Given the description of an element on the screen output the (x, y) to click on. 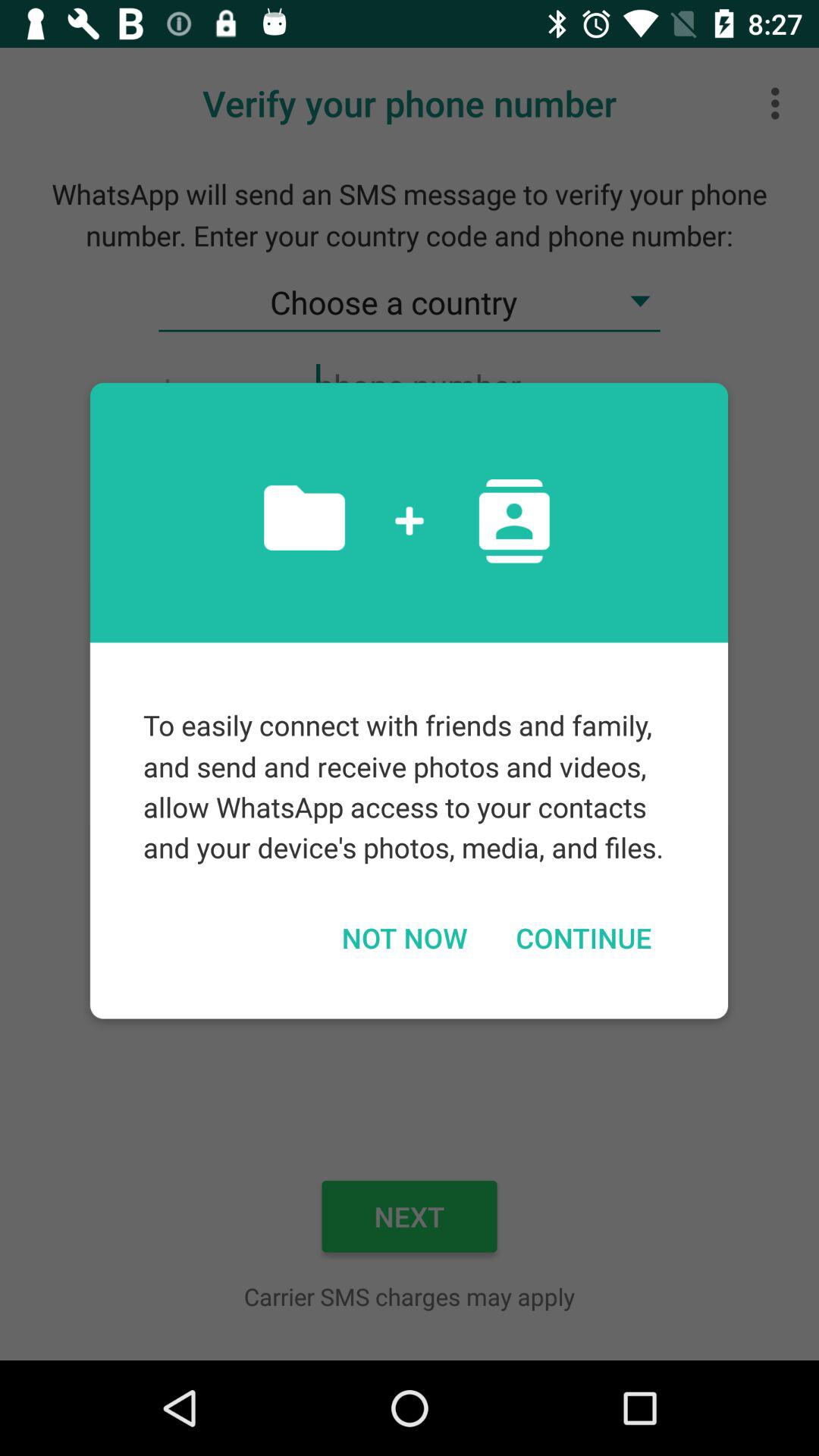
turn off continue on the right (583, 937)
